Given the description of an element on the screen output the (x, y) to click on. 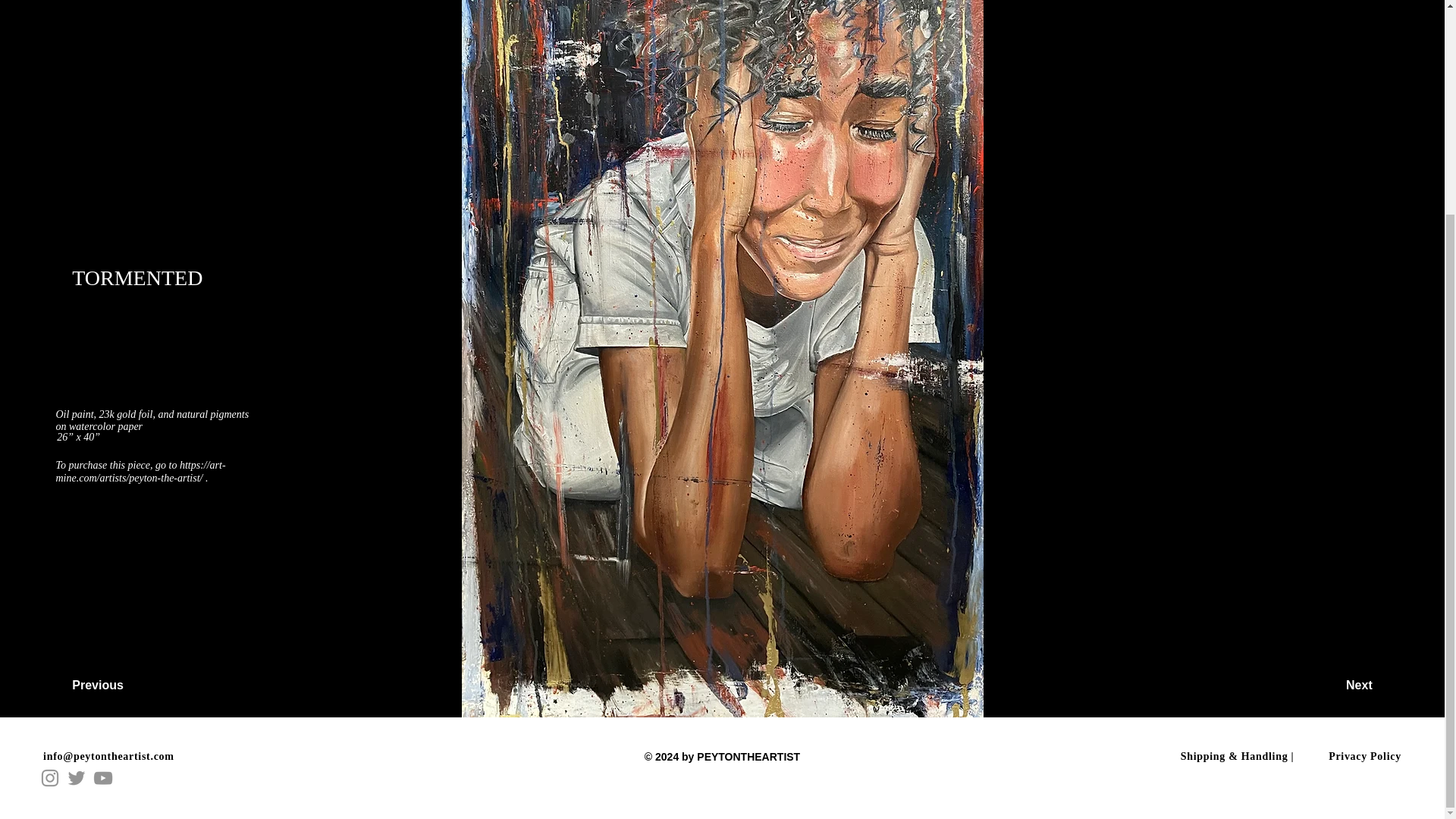
Previous (125, 685)
Privacy Policy (1363, 756)
Next (1319, 685)
